Given the description of an element on the screen output the (x, y) to click on. 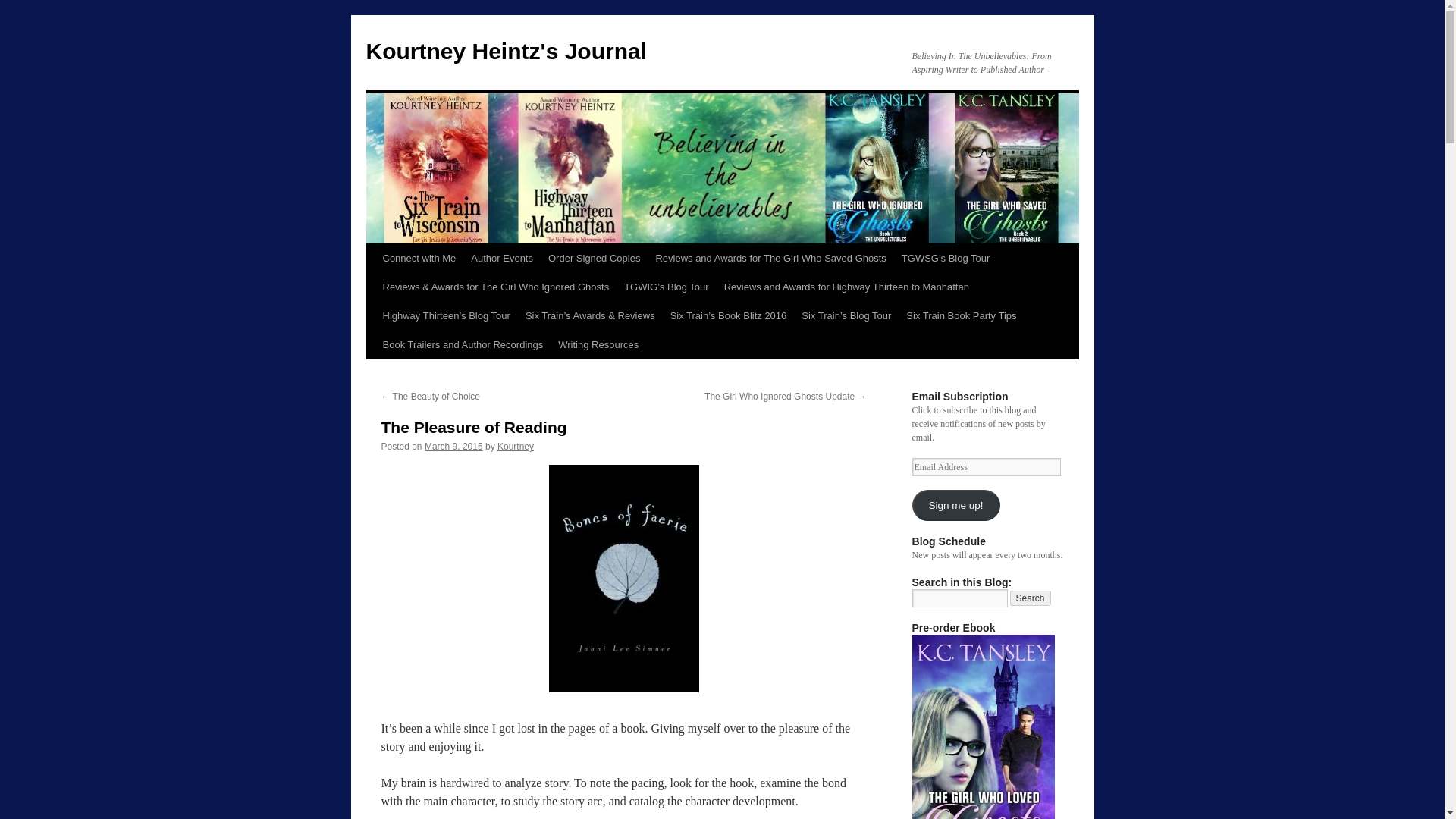
Order Signed Copies (593, 258)
Book Trailers and Author Recordings (462, 344)
March 9, 2015 (454, 446)
Reviews and Awards for Highway Thirteen to Manhattan (846, 287)
Connect with Me (418, 258)
Author Events (501, 258)
Search (1030, 598)
Kourtney Heintz's Journal (505, 50)
Kourtney Heintz's Journal (505, 50)
7:00 am (454, 446)
Six Train Book Party Tips (960, 316)
View all posts by Kourtney (515, 446)
Kourtney (515, 446)
Writing Resources (598, 344)
Reviews and Awards for The Girl Who Saved Ghosts (770, 258)
